Given the description of an element on the screen output the (x, y) to click on. 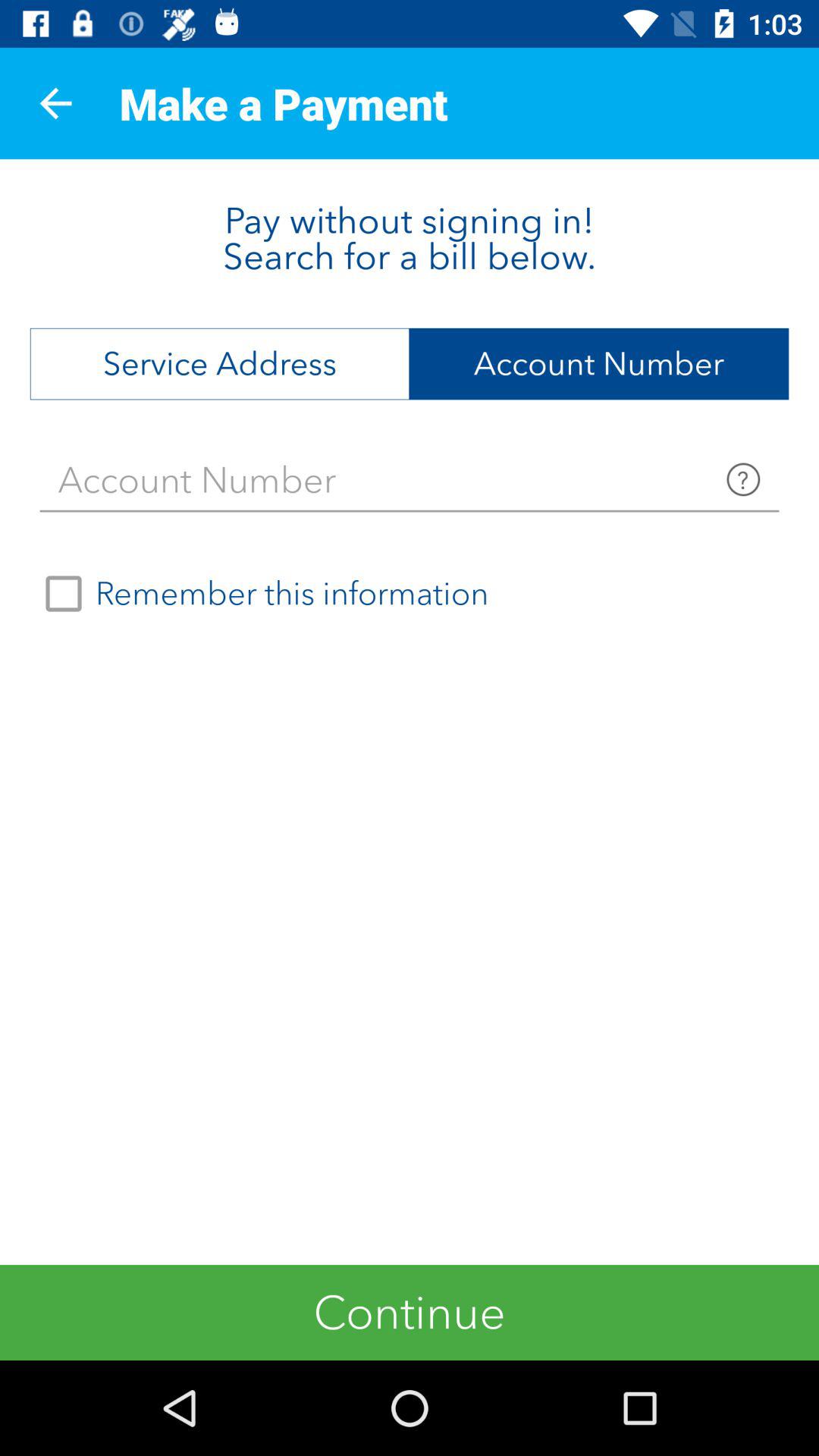
press the app next to make a payment app (55, 103)
